Given the description of an element on the screen output the (x, y) to click on. 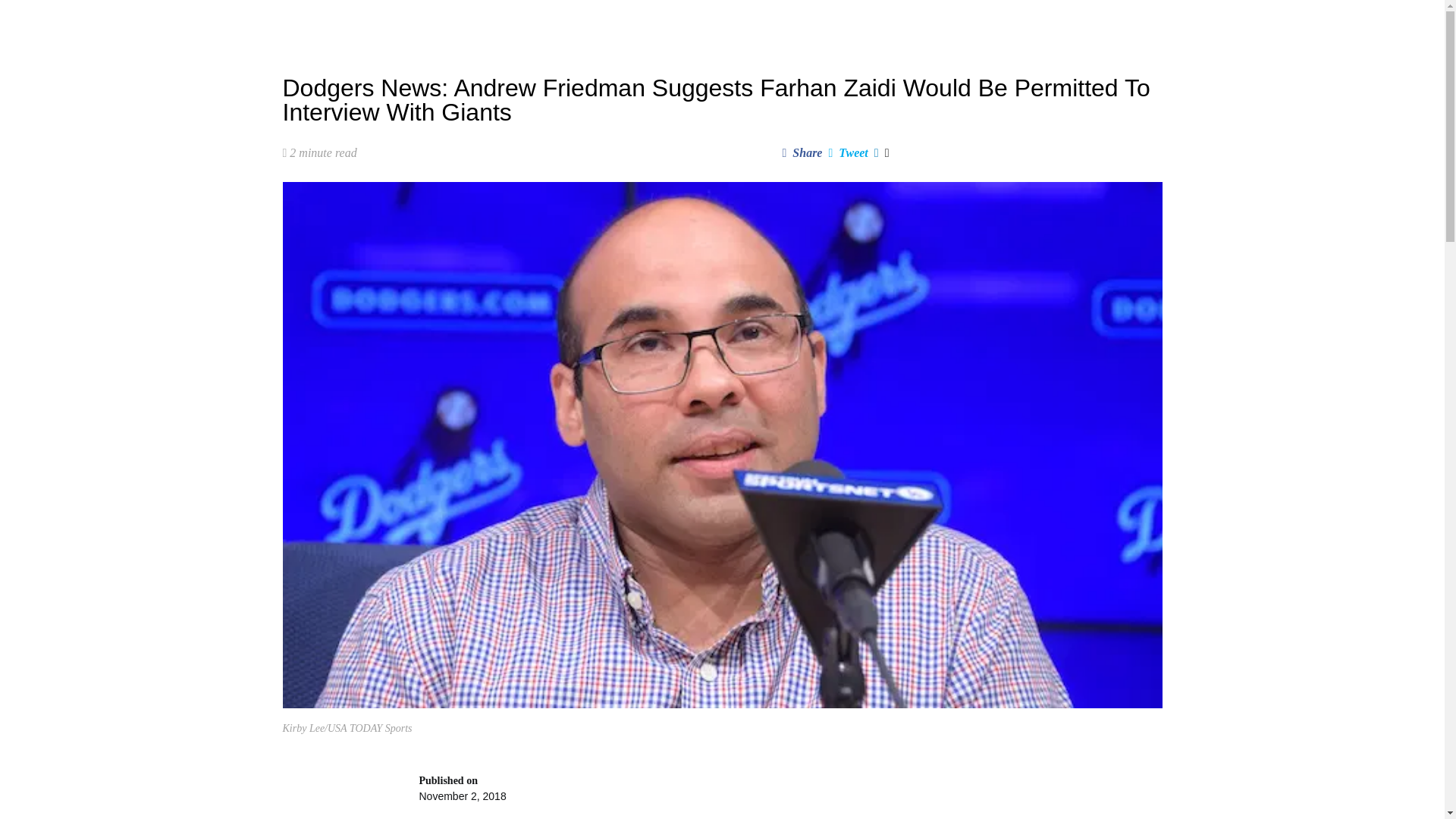
Team (640, 22)
Andrew Friedman, Farhan Zaidi address World Series loss (789, 796)
Dodgers News (440, 22)
Schedules (578, 22)
Rumors (513, 22)
Dodger Blue (322, 22)
